Given the description of an element on the screen output the (x, y) to click on. 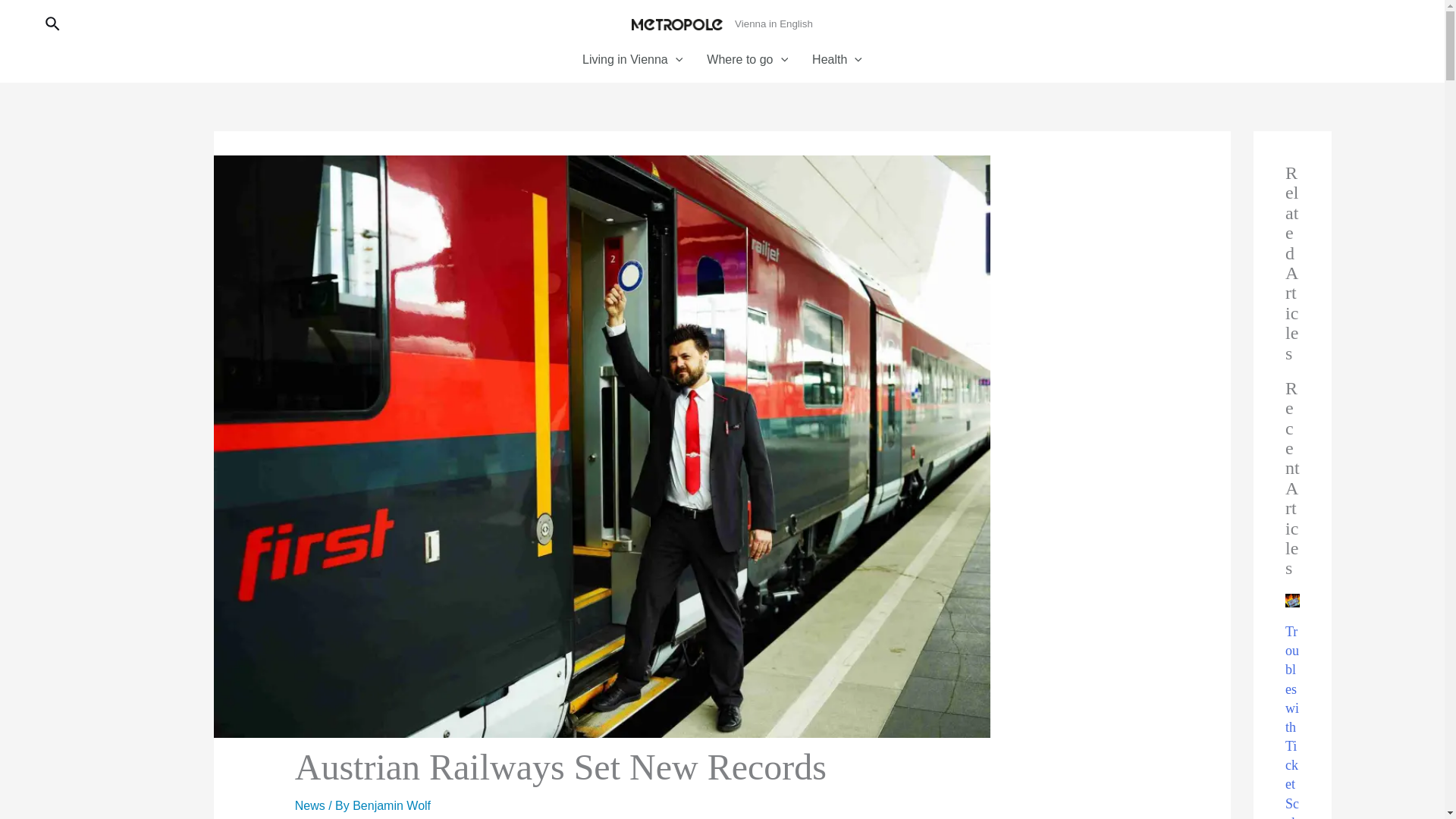
View all posts by Benjamin Wolf (391, 805)
Living in Vienna (632, 59)
Where to go (746, 59)
Health (837, 59)
